Given the description of an element on the screen output the (x, y) to click on. 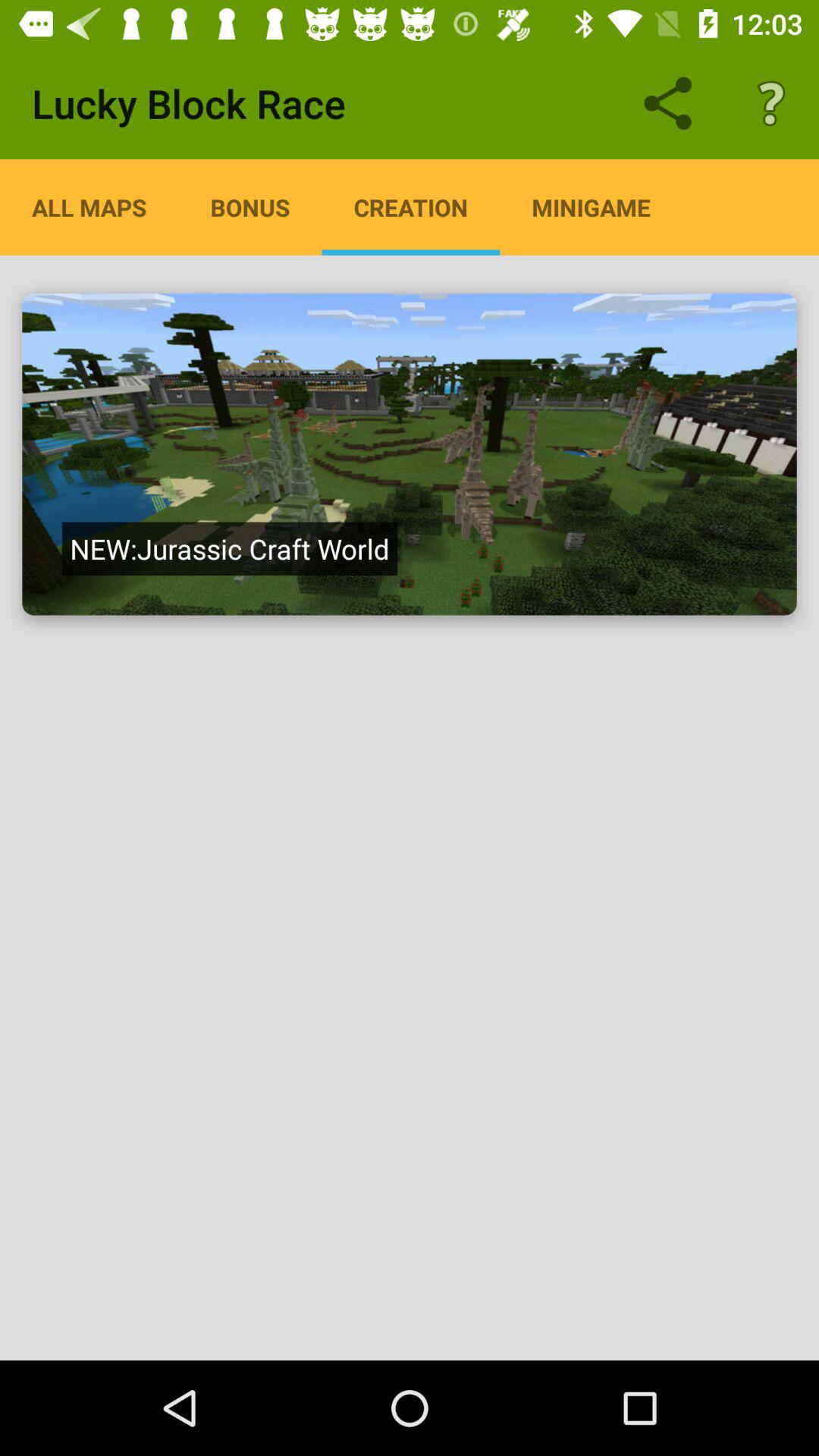
click item to the right of the bonus (410, 207)
